Given the description of an element on the screen output the (x, y) to click on. 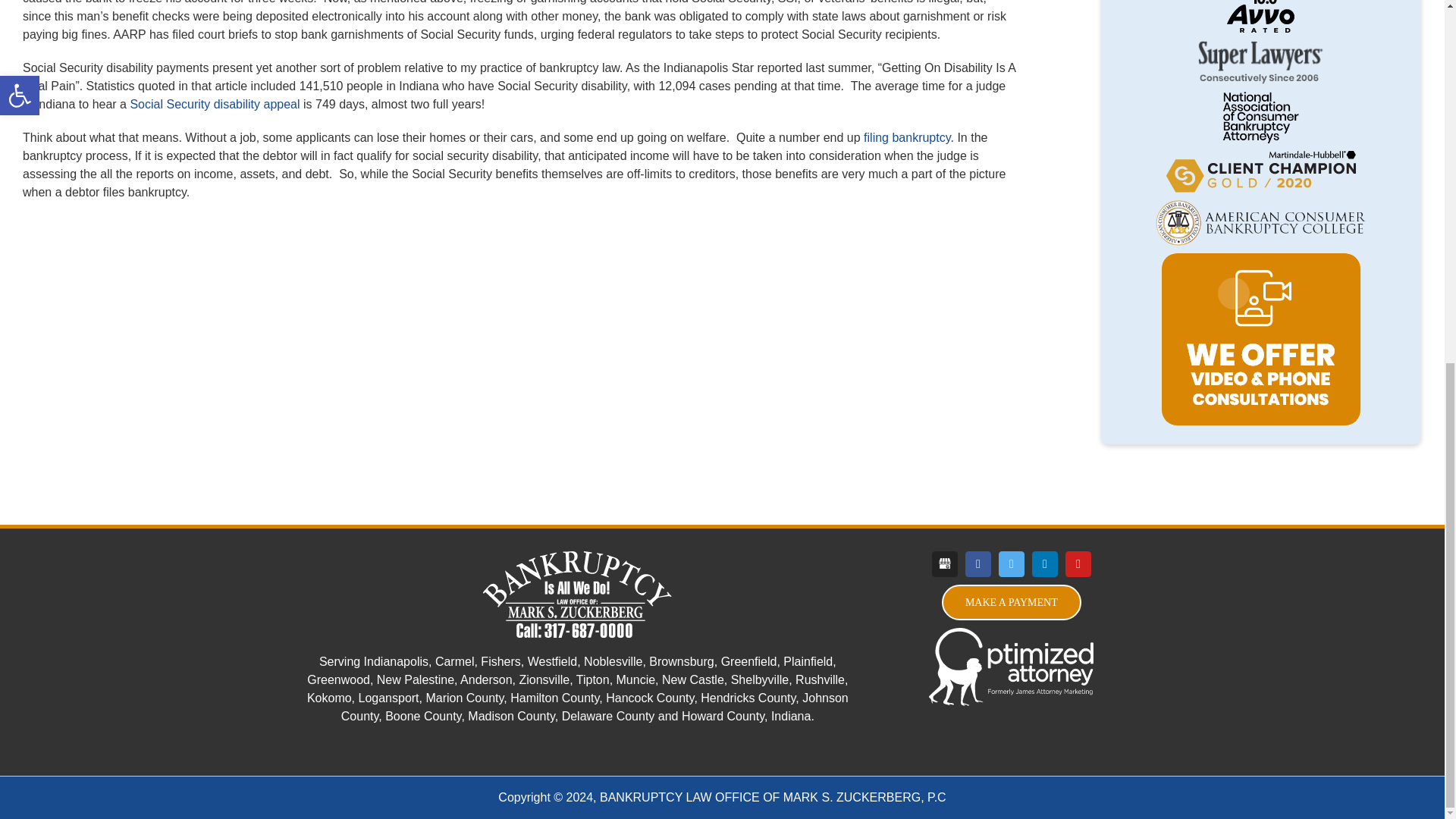
YouTube (1077, 564)
Twitter (1011, 564)
LinkedIn (1045, 564)
Facebook (978, 564)
Google (944, 564)
